Given the description of an element on the screen output the (x, y) to click on. 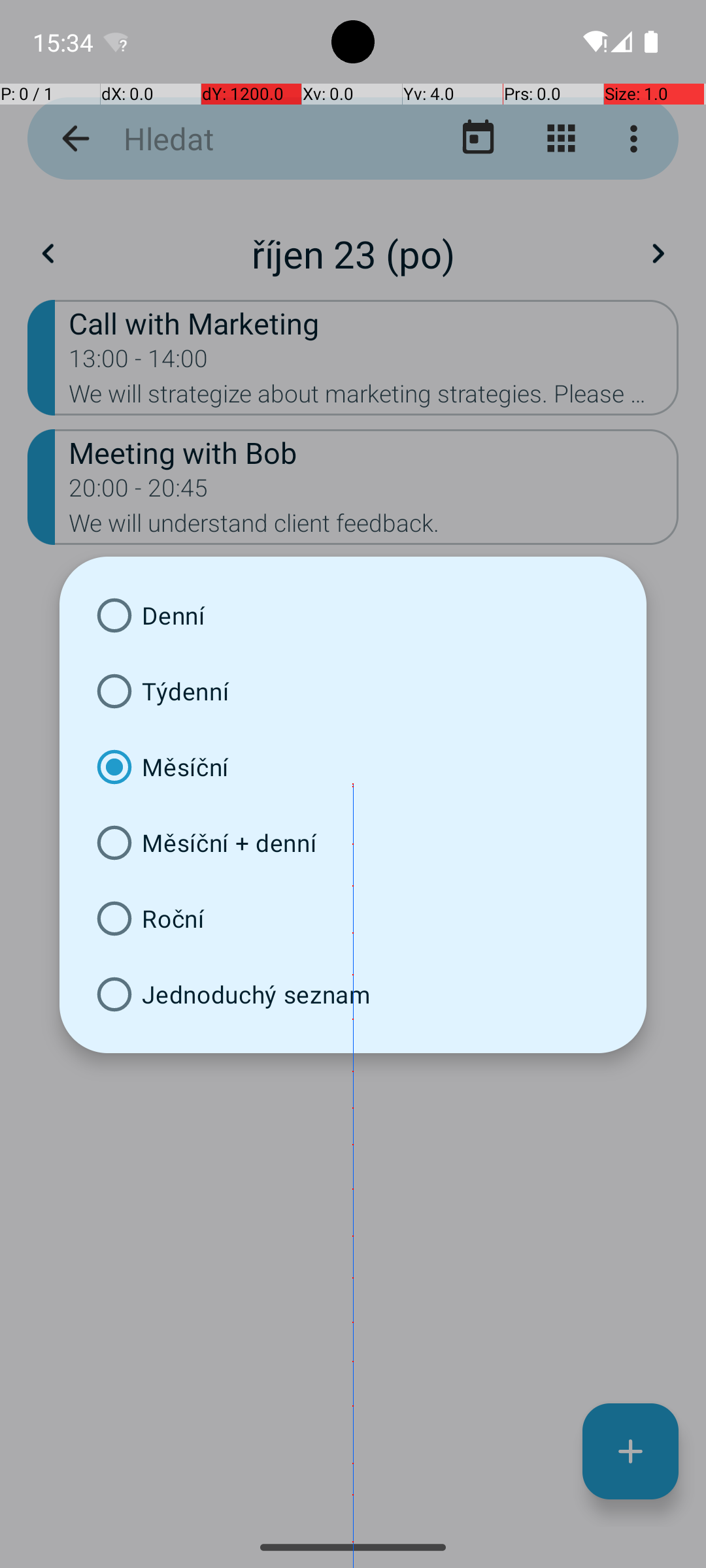
Denní Element type: android.widget.RadioButton (352, 615)
Týdenní Element type: android.widget.RadioButton (352, 691)
Měsíční Element type: android.widget.RadioButton (352, 766)
Měsíční + denní Element type: android.widget.RadioButton (352, 842)
Roční Element type: android.widget.RadioButton (352, 918)
Jednoduchý seznam Element type: android.widget.RadioButton (352, 994)
